Given the description of an element on the screen output the (x, y) to click on. 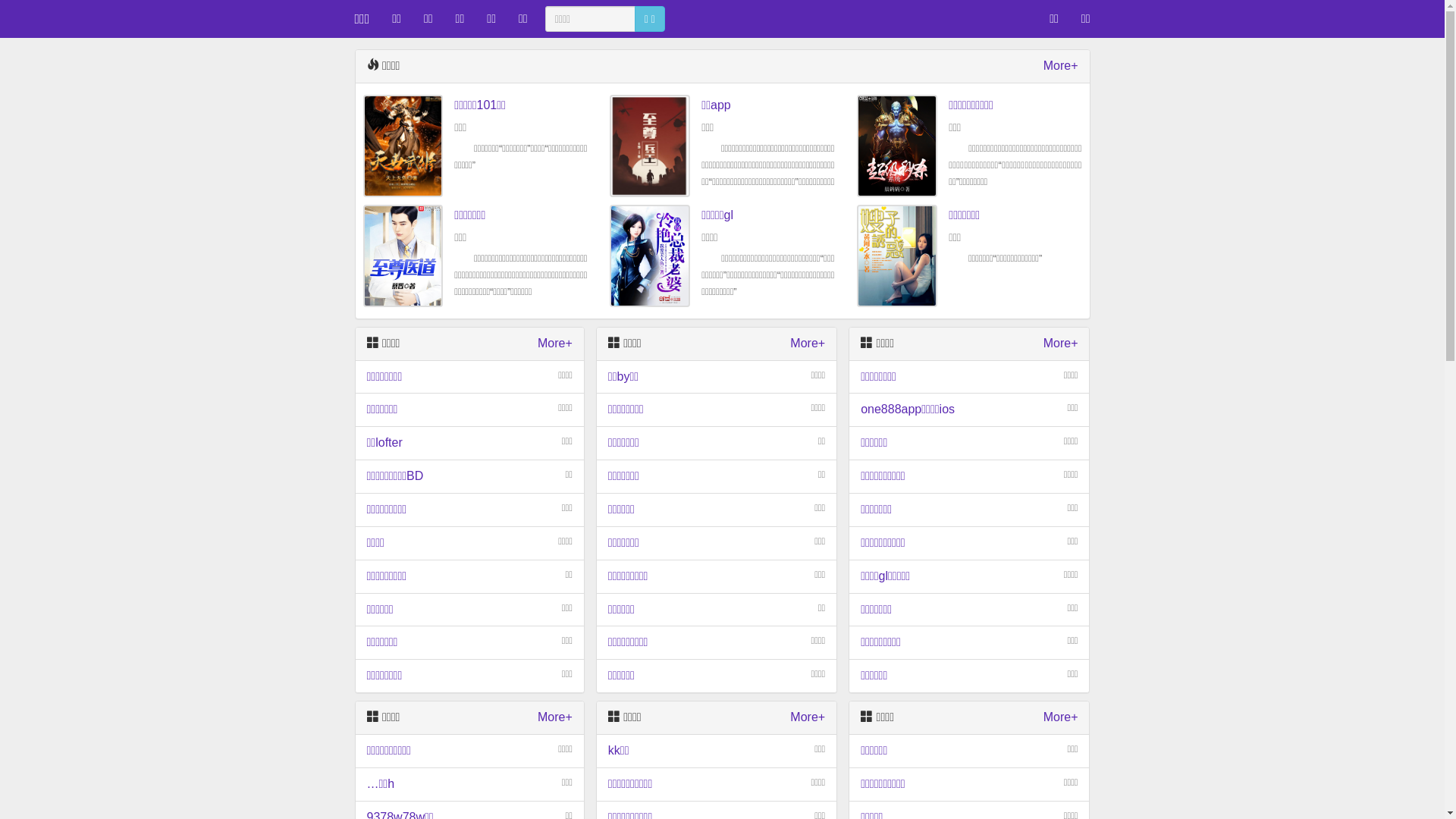
More+ Element type: text (554, 717)
More+ Element type: text (1060, 717)
More+ Element type: text (807, 343)
More+ Element type: text (554, 343)
More+ Element type: text (1060, 66)
More+ Element type: text (1060, 343)
More+ Element type: text (807, 717)
